Given the description of an element on the screen output the (x, y) to click on. 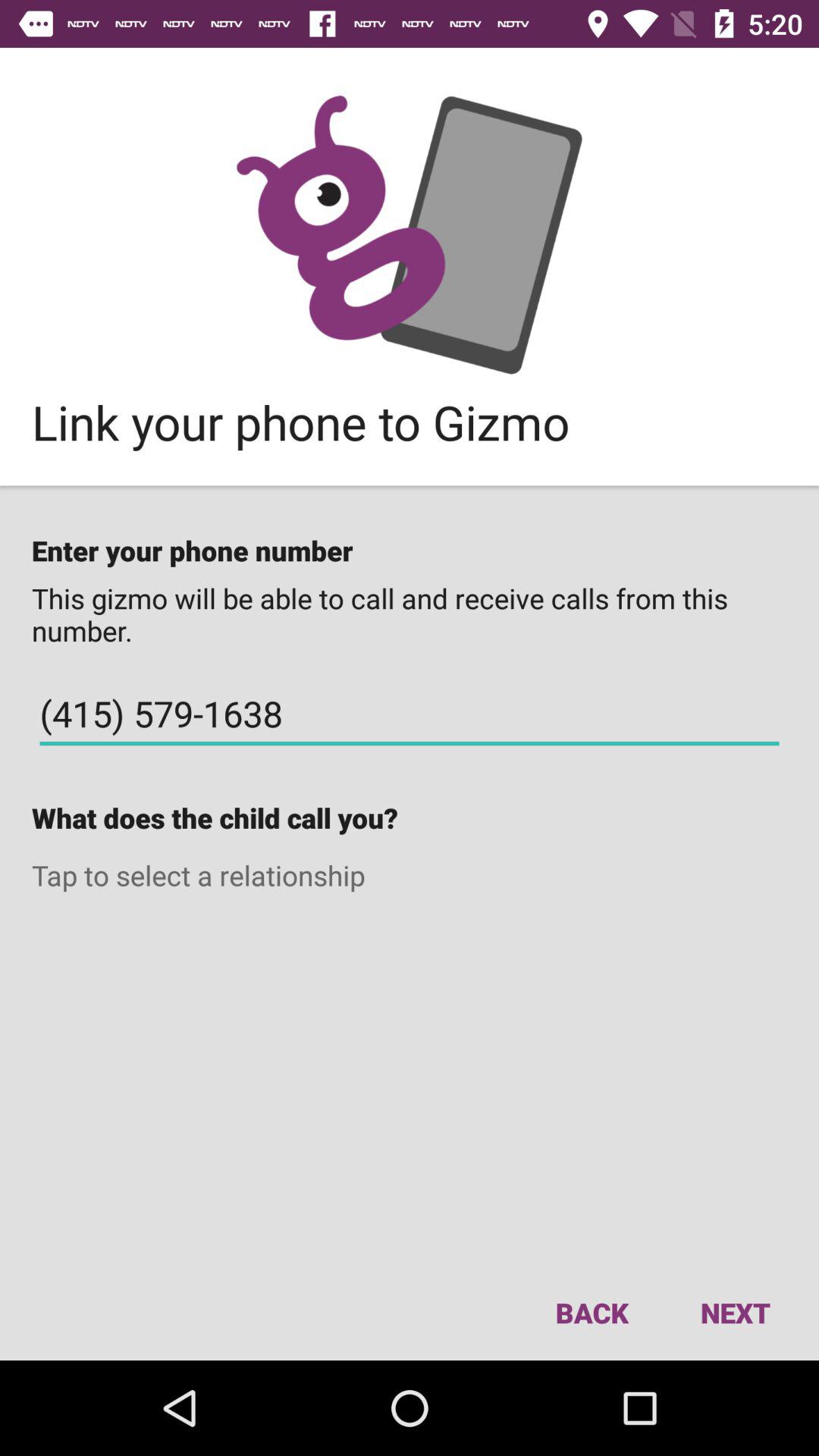
turn on the (415) 579-1638 item (409, 714)
